Given the description of an element on the screen output the (x, y) to click on. 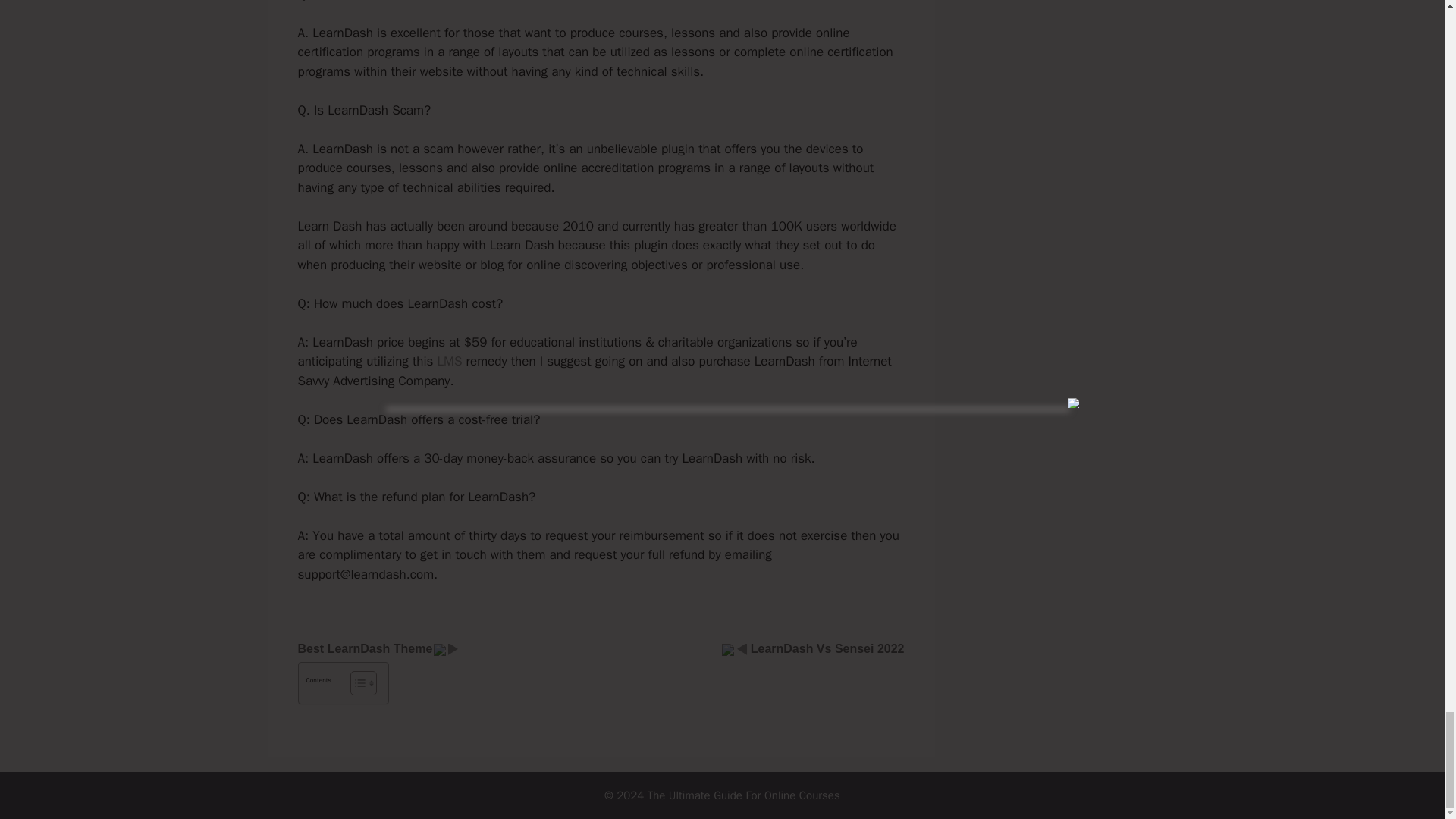
Best LearnDash Theme (364, 648)
Best LearnDash Theme (364, 648)
LearnDash Vs Sensei 2022 (827, 648)
LearnDash Vs Sensei 2022 (827, 648)
LMS (448, 360)
